Given the description of an element on the screen output the (x, y) to click on. 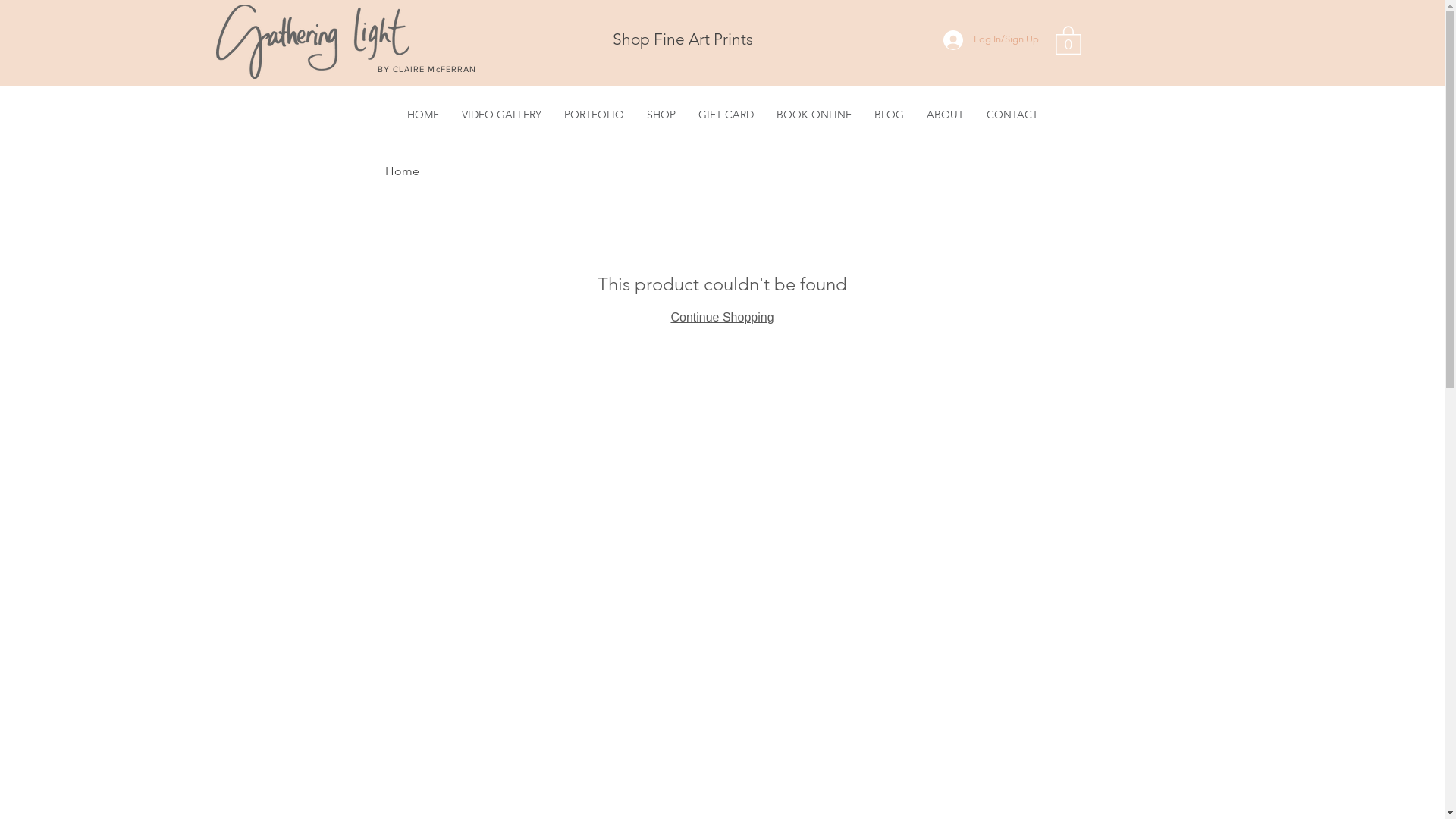
GIFT CARD Element type: text (726, 114)
PORTFOLIO Element type: text (593, 114)
Shop Fine Art Prints Element type: text (682, 38)
VIDEO GALLERY Element type: text (501, 114)
CONTACT Element type: text (1012, 114)
0 Element type: text (1068, 39)
Home Element type: text (402, 170)
Click for Home Gathering Ligt Element type: hover (311, 41)
Continue Shopping Element type: text (721, 316)
BLOG Element type: text (888, 114)
HOME Element type: text (422, 114)
Log In/Sign Up Element type: text (990, 39)
ABOUT Element type: text (944, 114)
SHOP Element type: text (661, 114)
BOOK ONLINE Element type: text (813, 114)
